Given the description of an element on the screen output the (x, y) to click on. 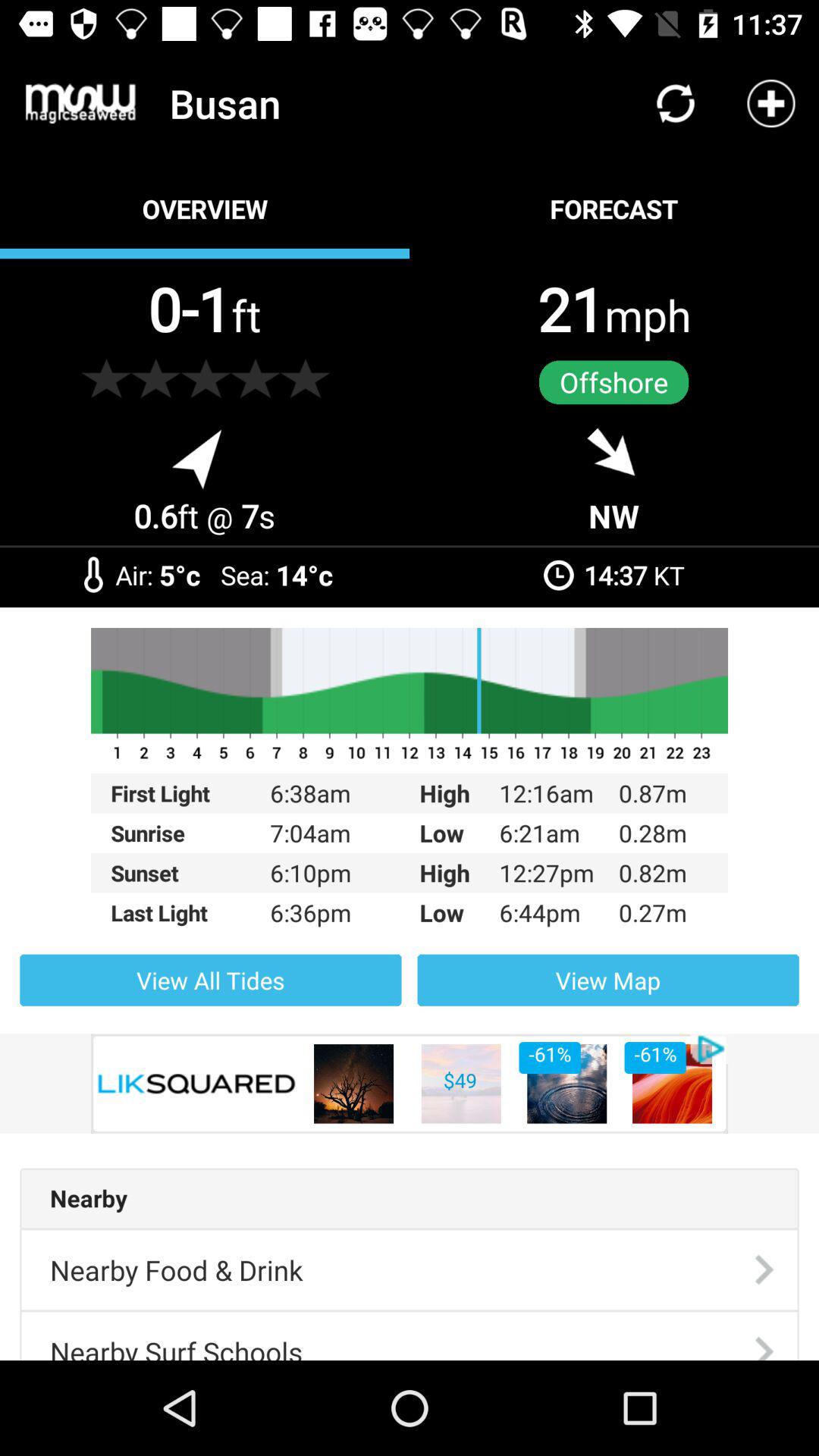
press icon below the nearby food & drink item (176, 1336)
